Given the description of an element on the screen output the (x, y) to click on. 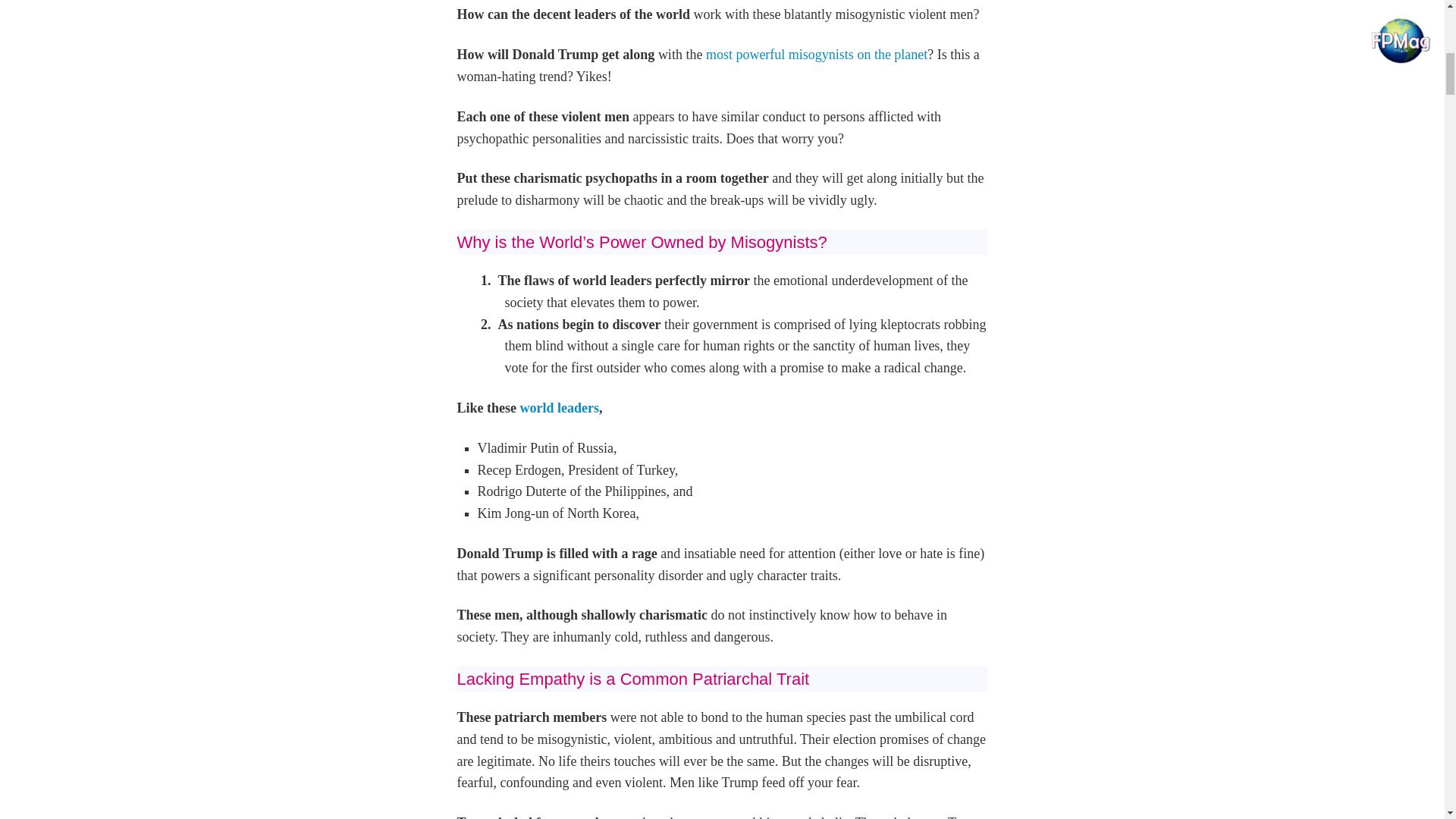
world leaders (557, 407)
most powerful misogynists on the planet (814, 54)
